Given the description of an element on the screen output the (x, y) to click on. 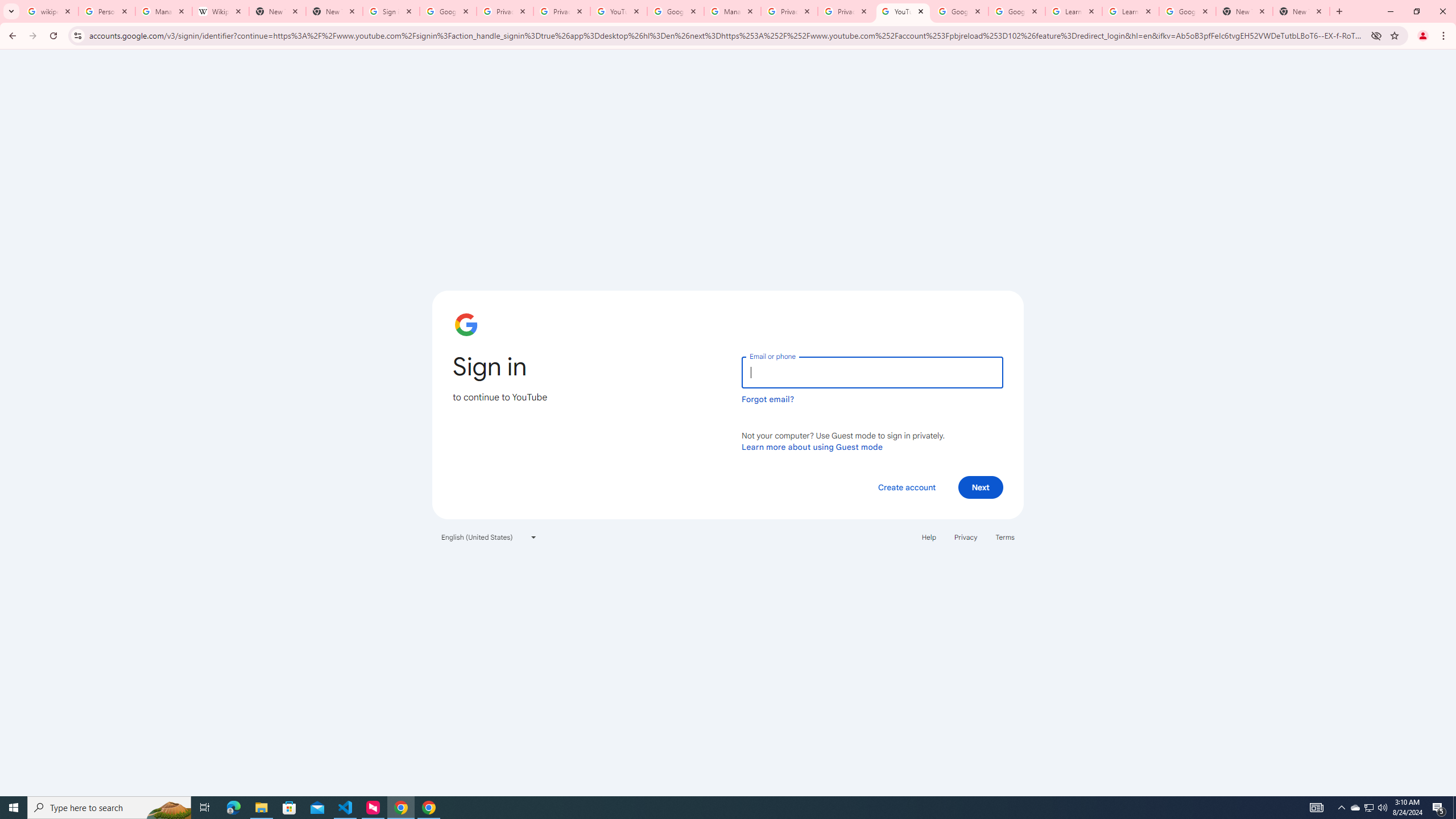
Forgot email? (767, 398)
Google Account Help (959, 11)
New Tab (1301, 11)
